Given the description of an element on the screen output the (x, y) to click on. 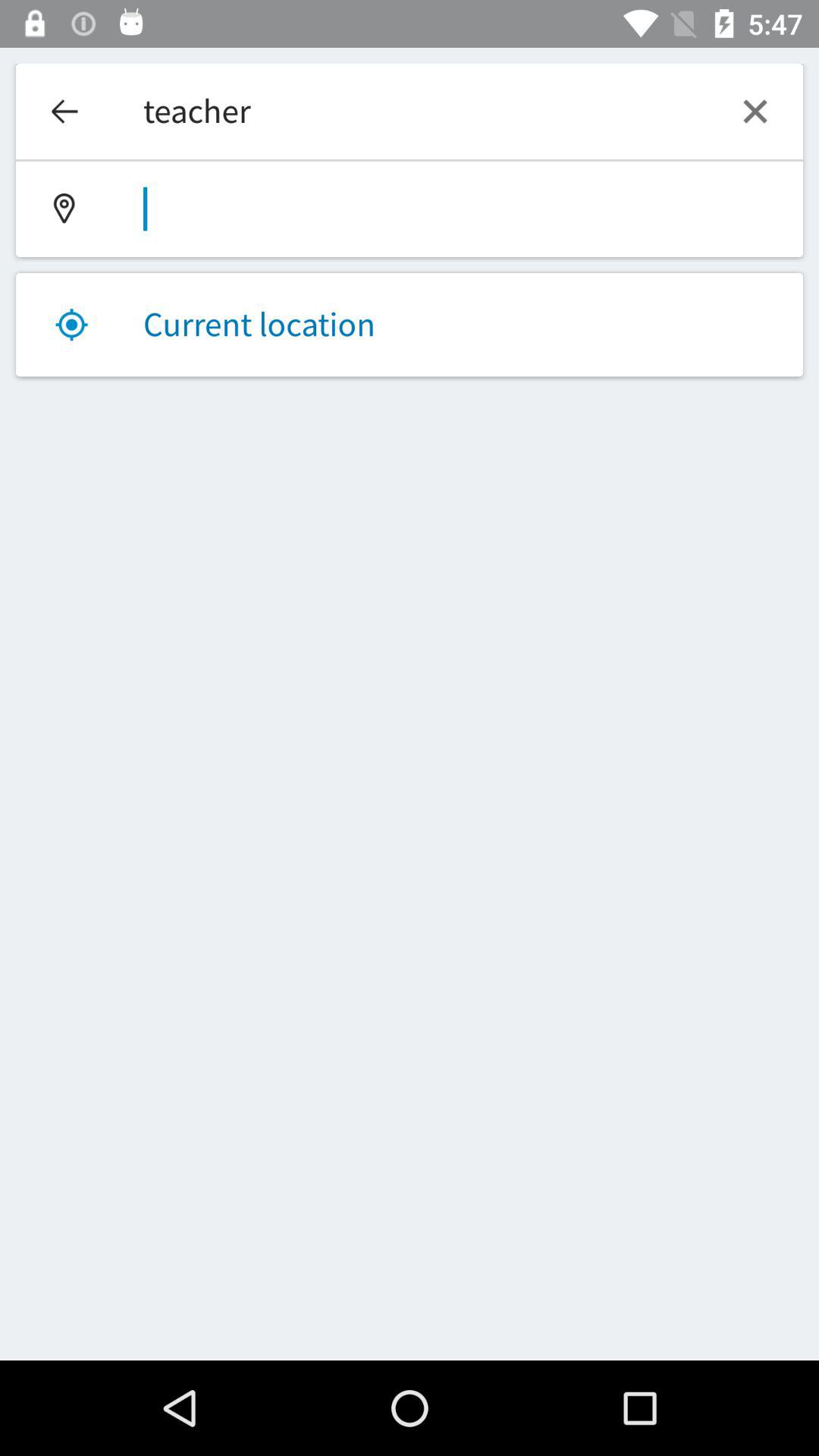
location field (409, 209)
